Given the description of an element on the screen output the (x, y) to click on. 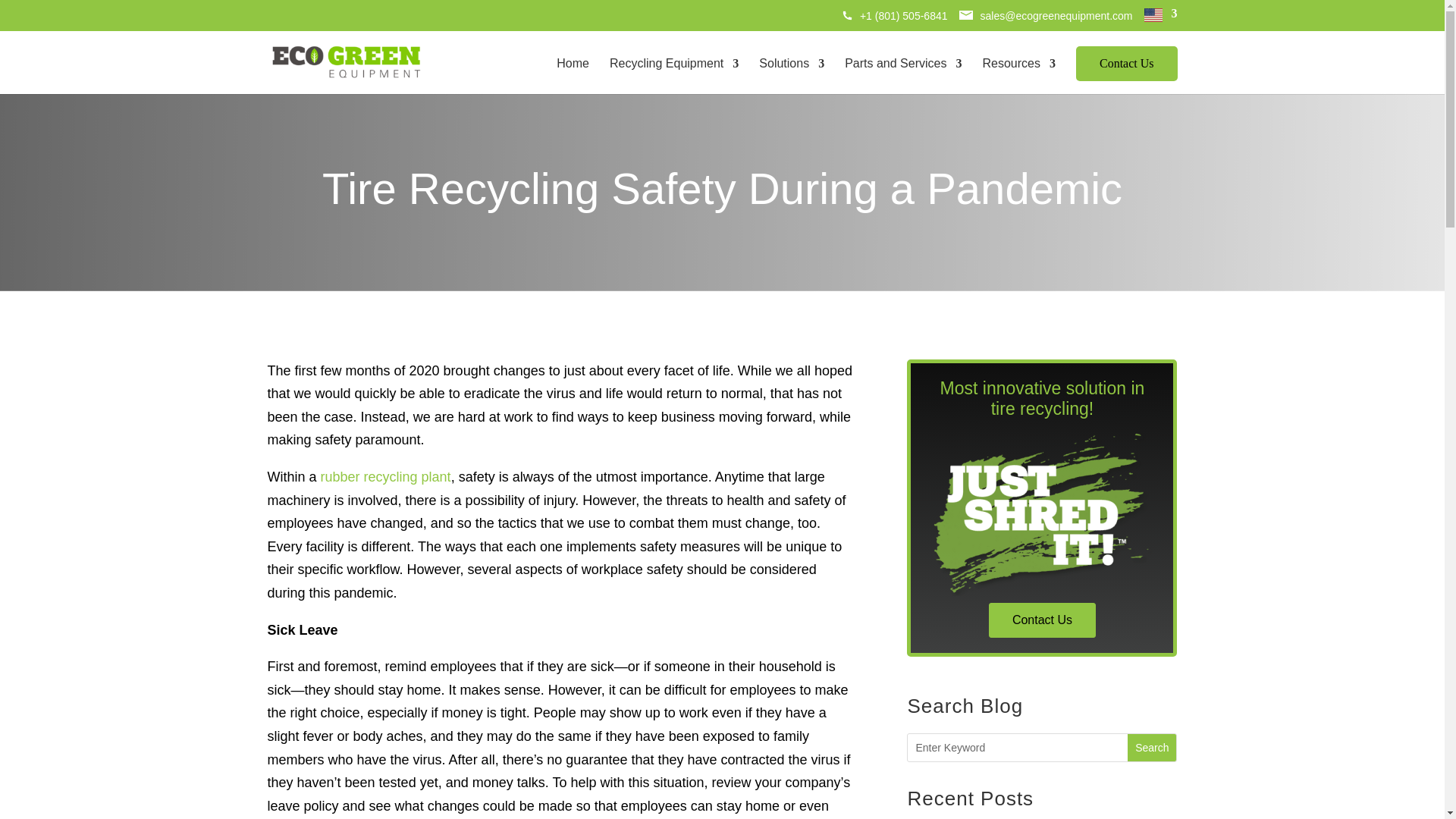
Search (1151, 747)
Parts and Services (902, 76)
Home (572, 76)
Tire recycling equipment for sale (674, 76)
Resources (1017, 76)
Tire recycling equipment (572, 76)
Solutions (791, 76)
Recycling Equipment (674, 76)
Material Application (791, 76)
Search (1151, 747)
